Given the description of an element on the screen output the (x, y) to click on. 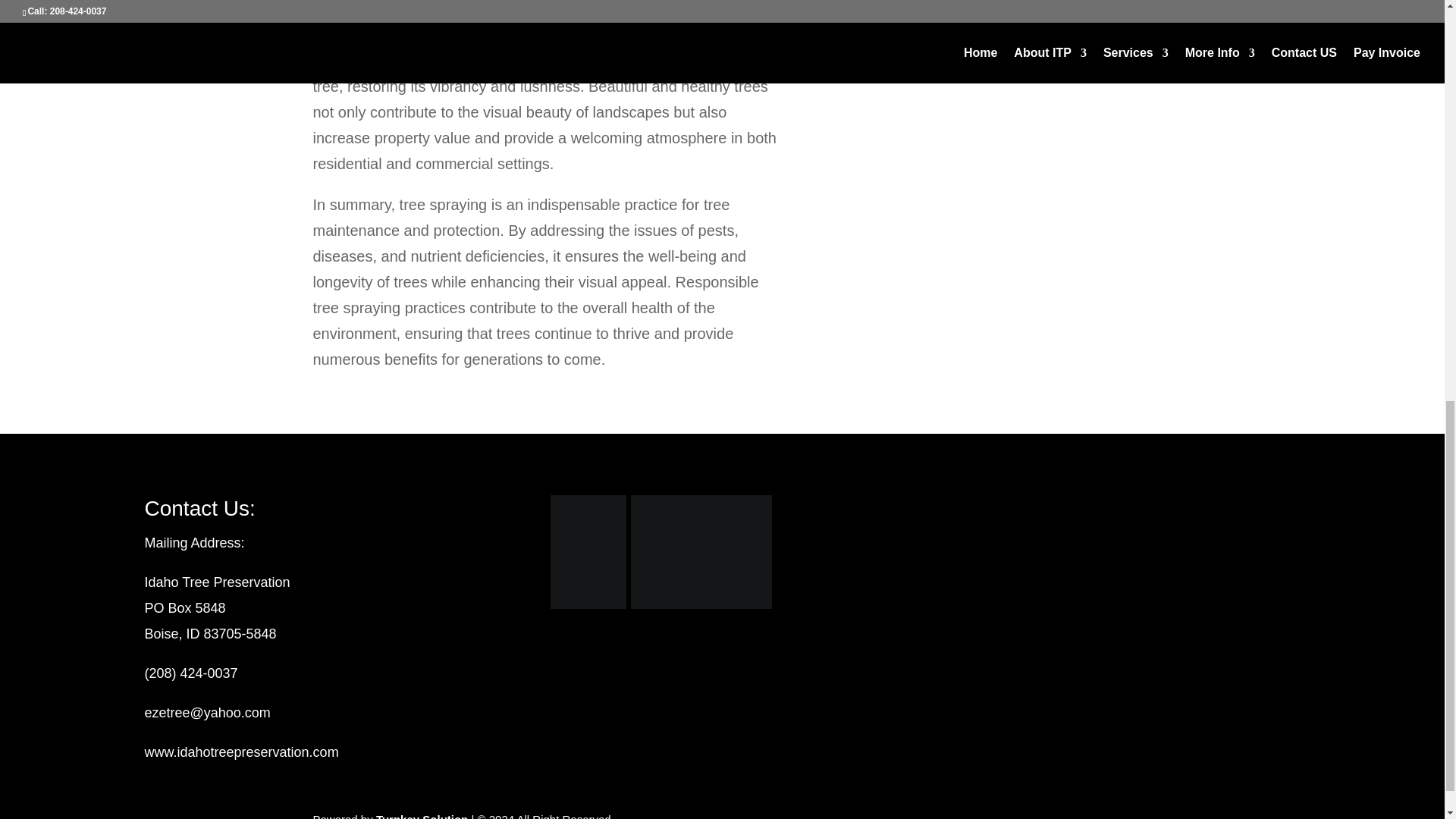
Turnkey Solution (421, 816)
Turnkey Solution (421, 816)
